Given the description of an element on the screen output the (x, y) to click on. 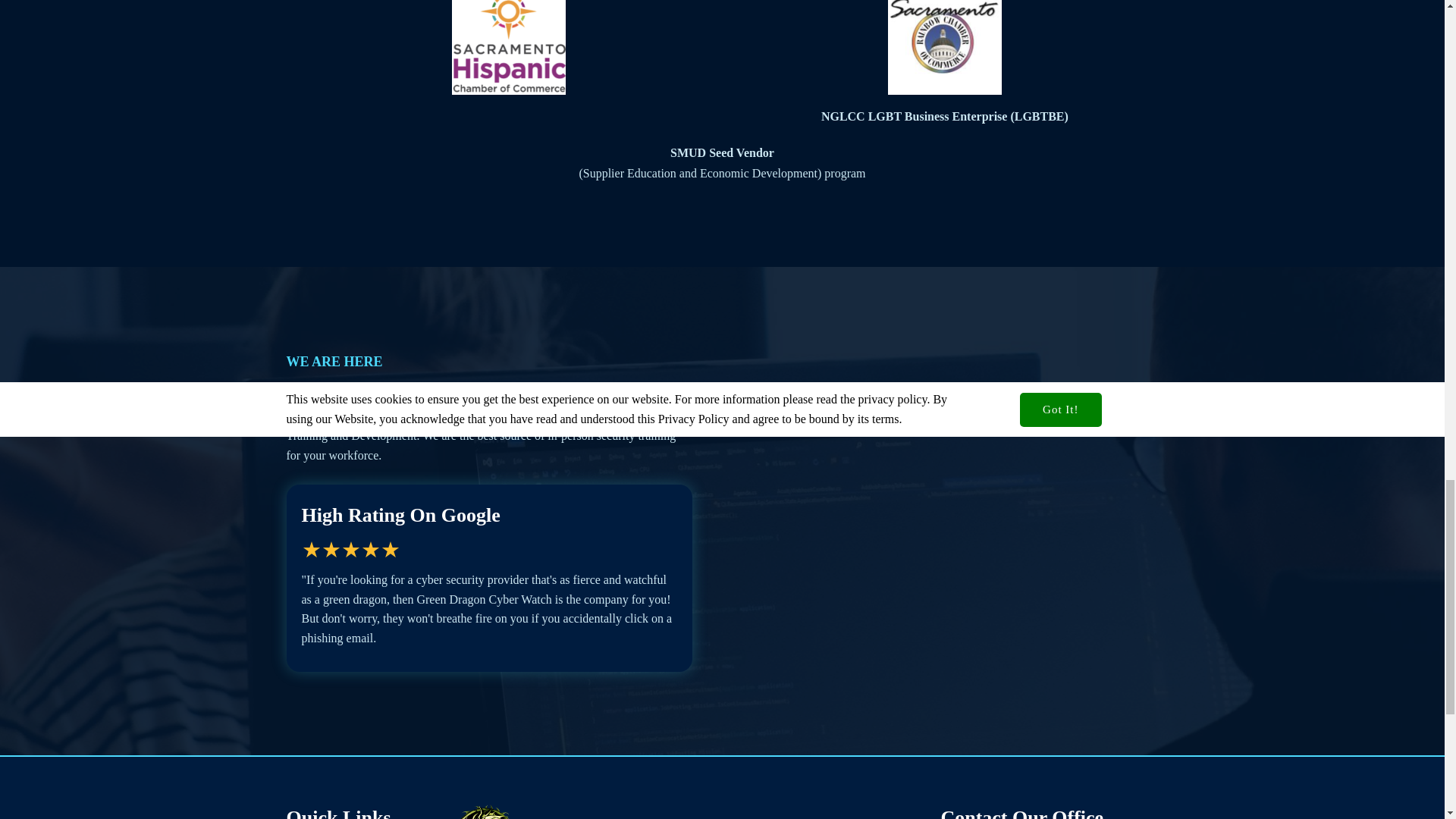
Green Dragon Cyber Watch (657, 810)
Sacramento Rainbow Chamber of Commerce (944, 47)
Hispanic Chamber of Commerce Logo (508, 47)
LOGO (483, 810)
